Given the description of an element on the screen output the (x, y) to click on. 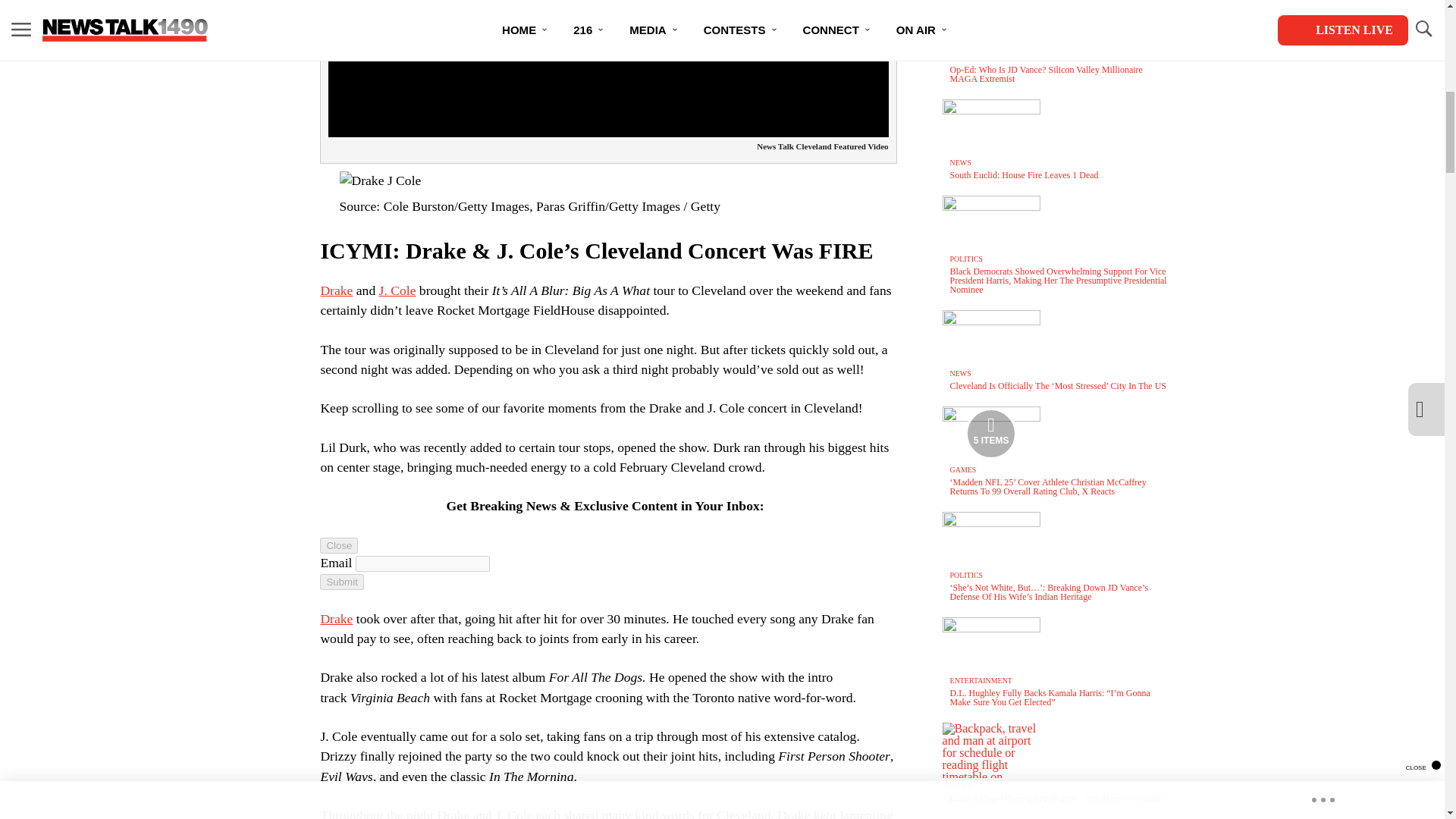
Submit (341, 581)
Drake (336, 290)
Close (339, 545)
Media Playlist (990, 433)
Drake (336, 618)
J. Cole (397, 290)
